Given the description of an element on the screen output the (x, y) to click on. 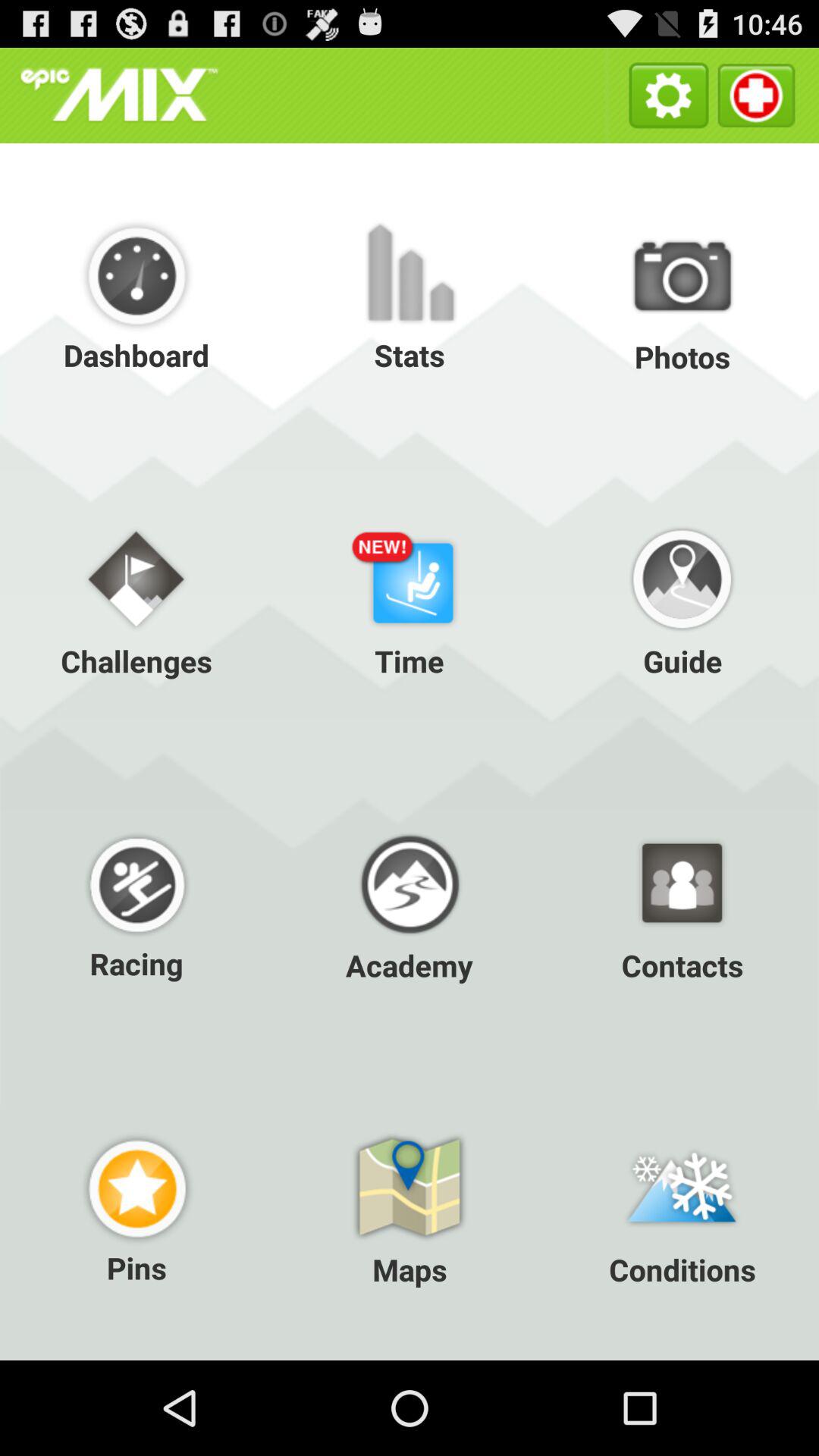
choose the contacts button (682, 903)
